Given the description of an element on the screen output the (x, y) to click on. 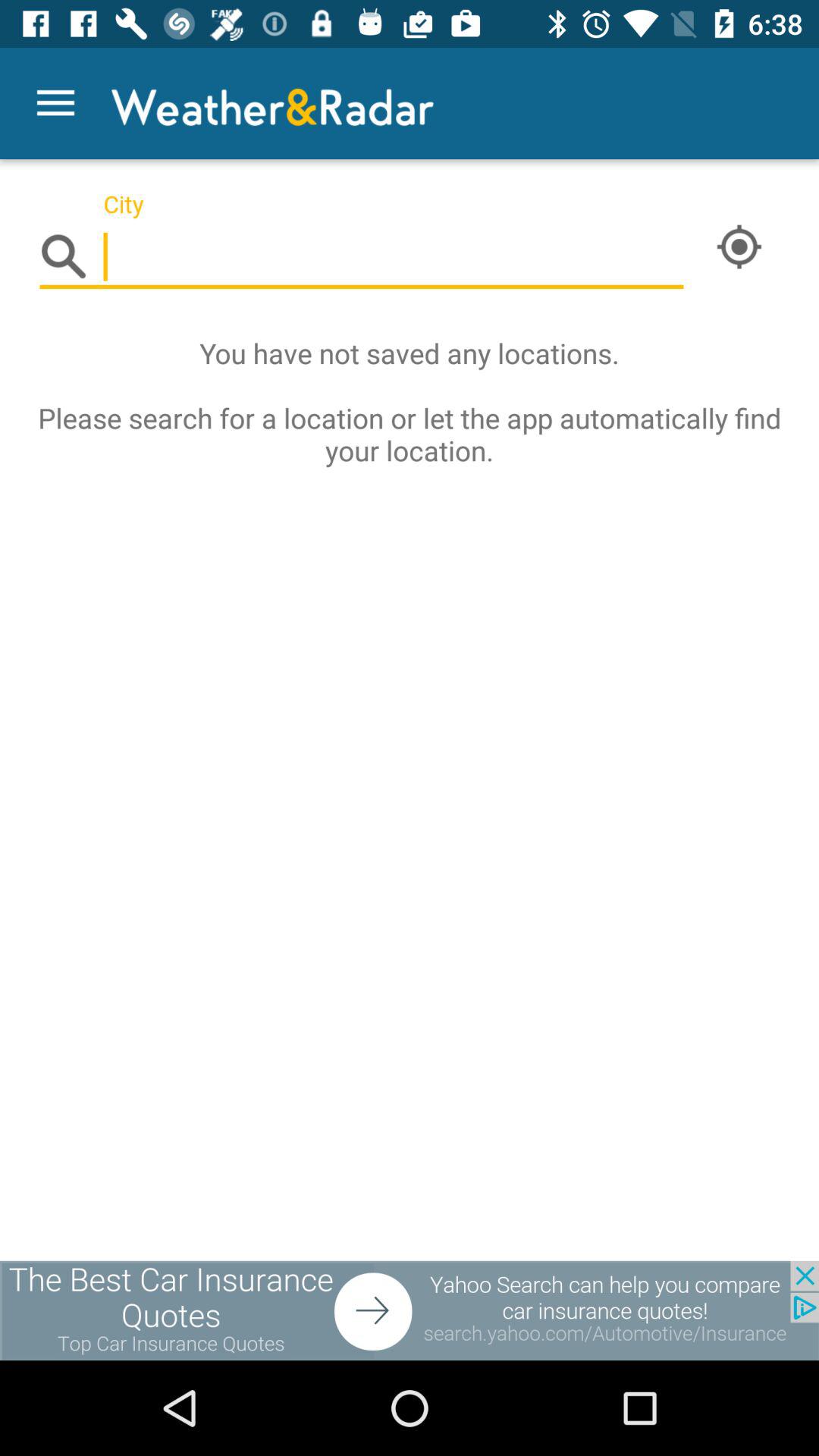
open advertisement (409, 1310)
